Given the description of an element on the screen output the (x, y) to click on. 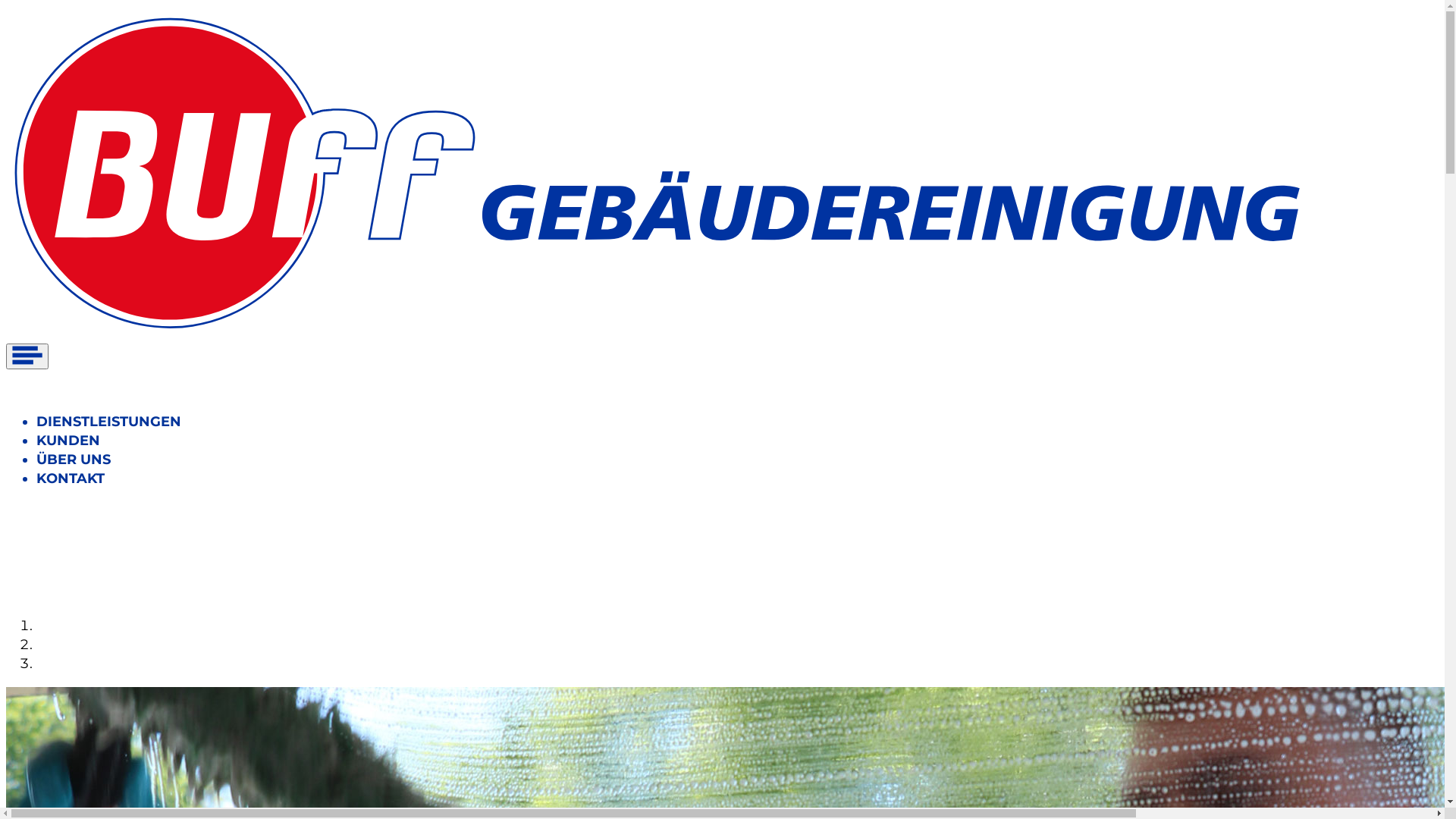
DIENSTLEISTUNGEN Element type: text (108, 421)
KUNDEN Element type: text (68, 440)
KONTAKT Element type: text (70, 478)
